Given the description of an element on the screen output the (x, y) to click on. 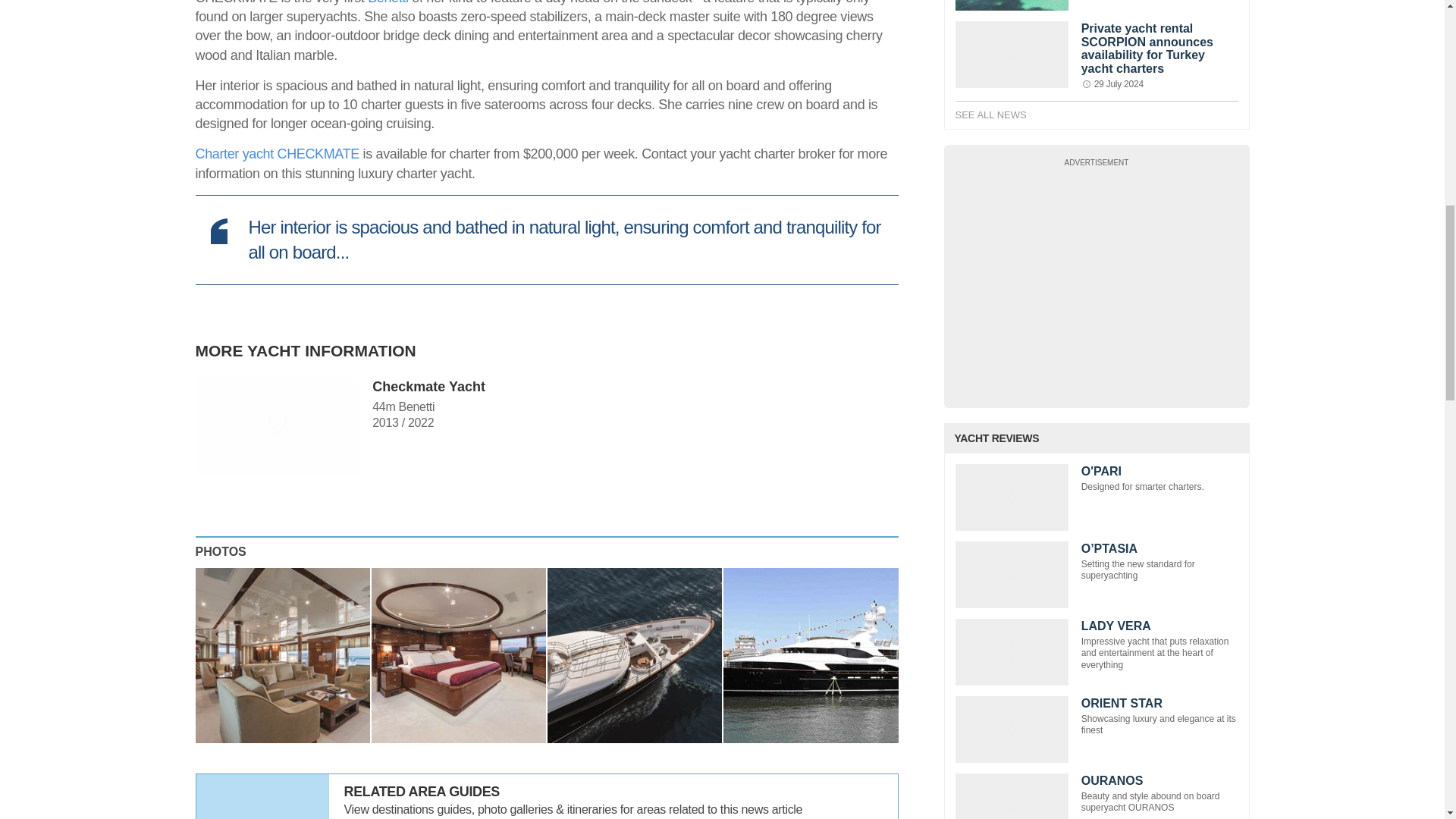
Donate Now (1095, 275)
